Given the description of an element on the screen output the (x, y) to click on. 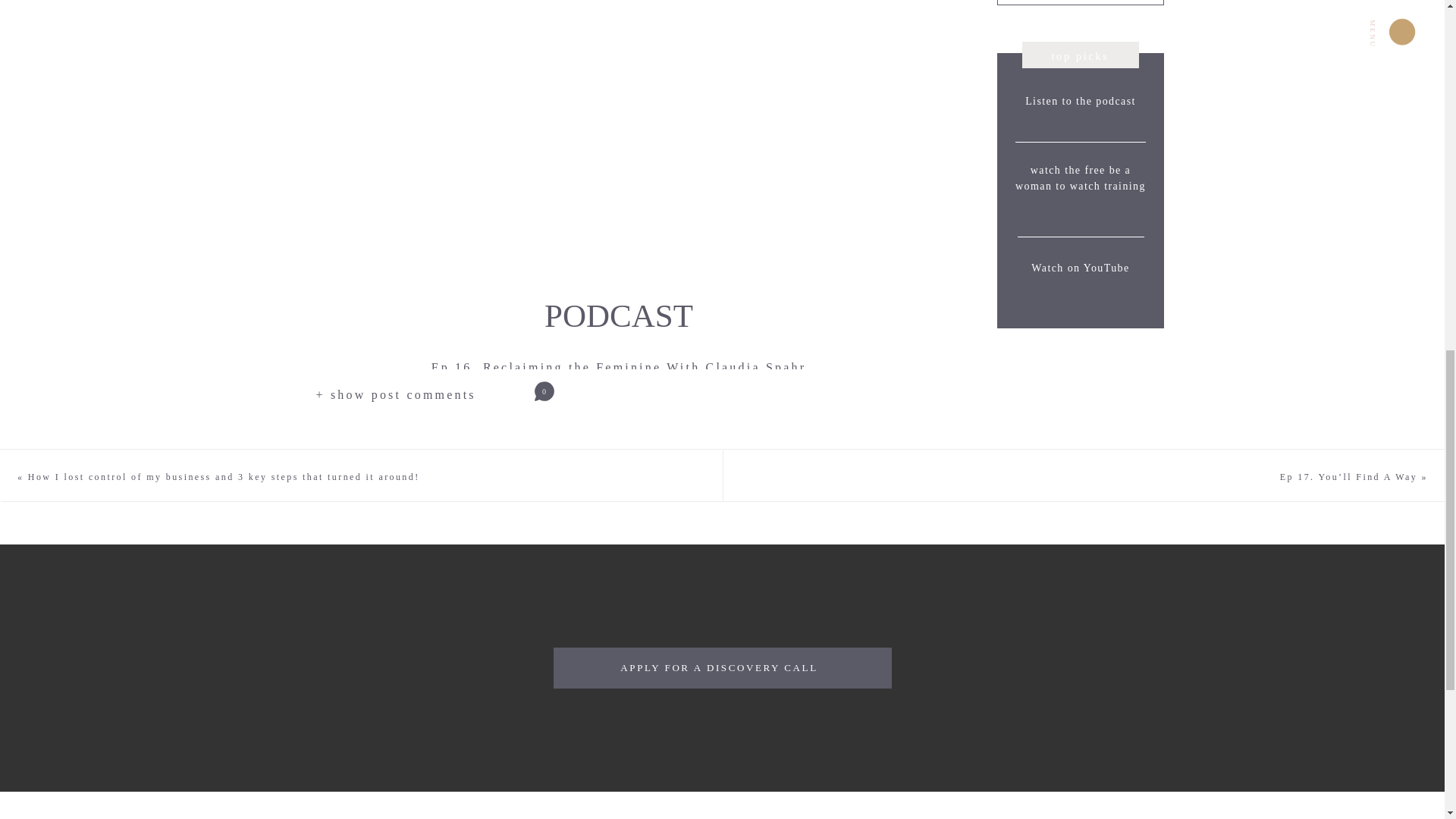
Watch on YouTube (1080, 283)
Right Time Baby (737, 399)
Listen to the podcast (1080, 113)
watch the free be a woman to watch training (1080, 192)
Claudia Spahr (374, 399)
